Given the description of an element on the screen output the (x, y) to click on. 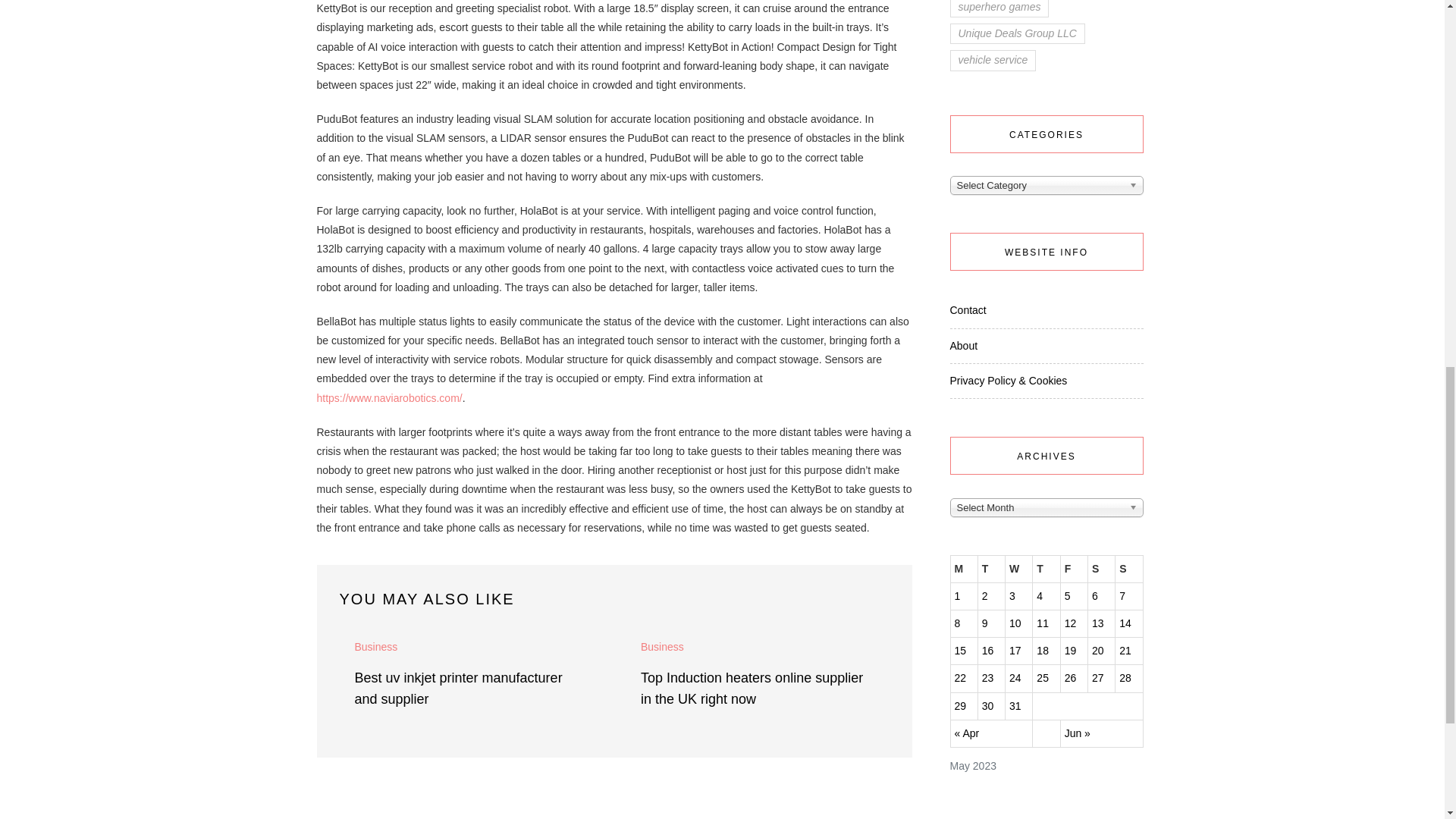
Tuesday (990, 568)
Best uv inkjet printer manufacturer and supplier (458, 688)
Saturday (1101, 568)
Monday (963, 568)
Business (376, 647)
Unique Deals Group LLC (1016, 33)
Friday (1073, 568)
Business (662, 647)
Top Induction heaters online supplier in the UK right now (751, 688)
Wednesday (1019, 568)
Thursday (1045, 568)
superhero games (998, 8)
Sunday (1128, 568)
